Given the description of an element on the screen output the (x, y) to click on. 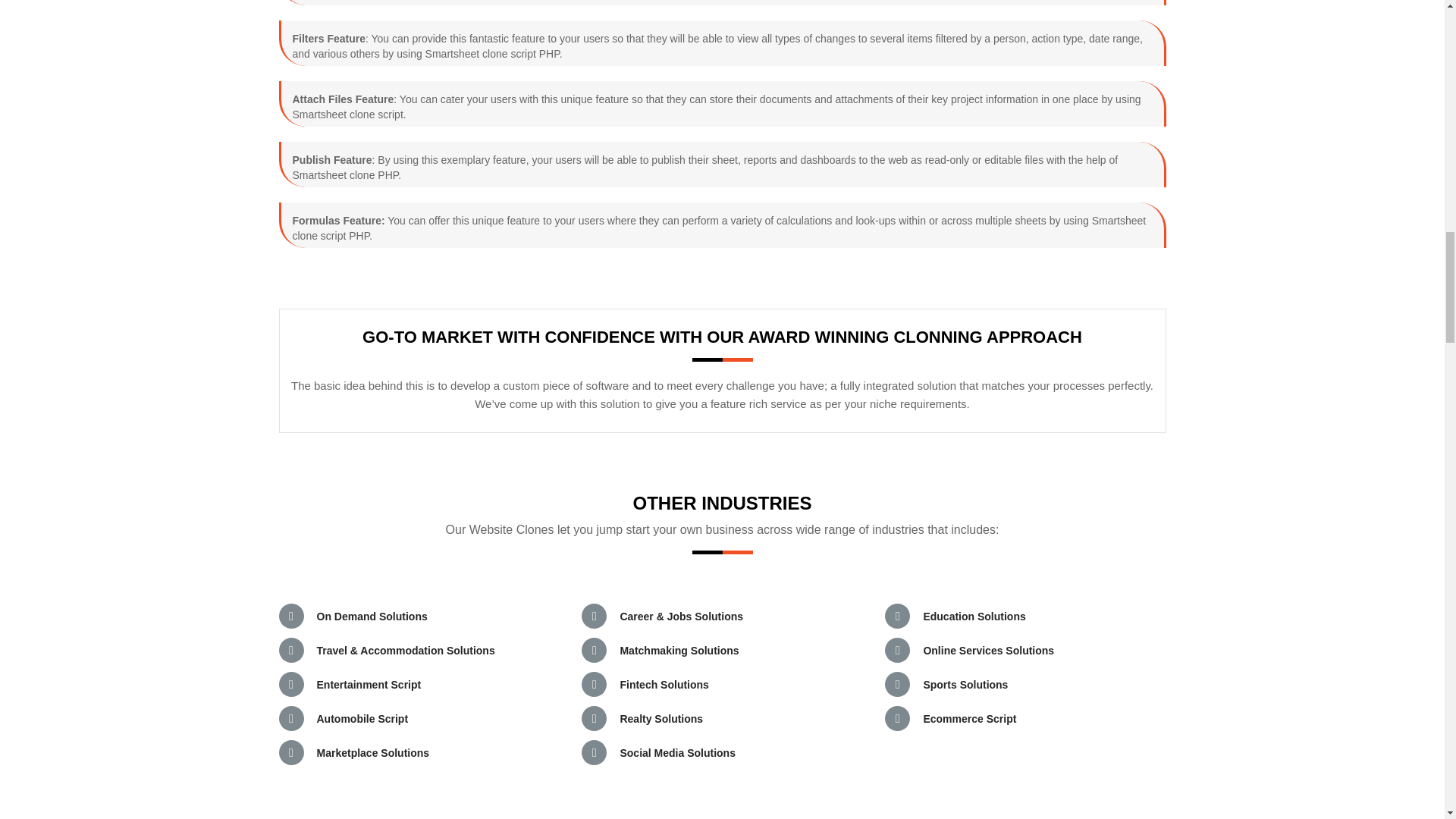
Online Services Solutions (988, 650)
Fintech Solutions (663, 684)
Social Media Solutions (677, 752)
Marketplace Solutions (373, 752)
Sports Solutions (965, 684)
On Demand Solutions (372, 616)
Entertainment Script (369, 684)
Education Solutions (974, 616)
Ecommerce Script (969, 718)
Matchmaking Solutions (679, 650)
